Given the description of an element on the screen output the (x, y) to click on. 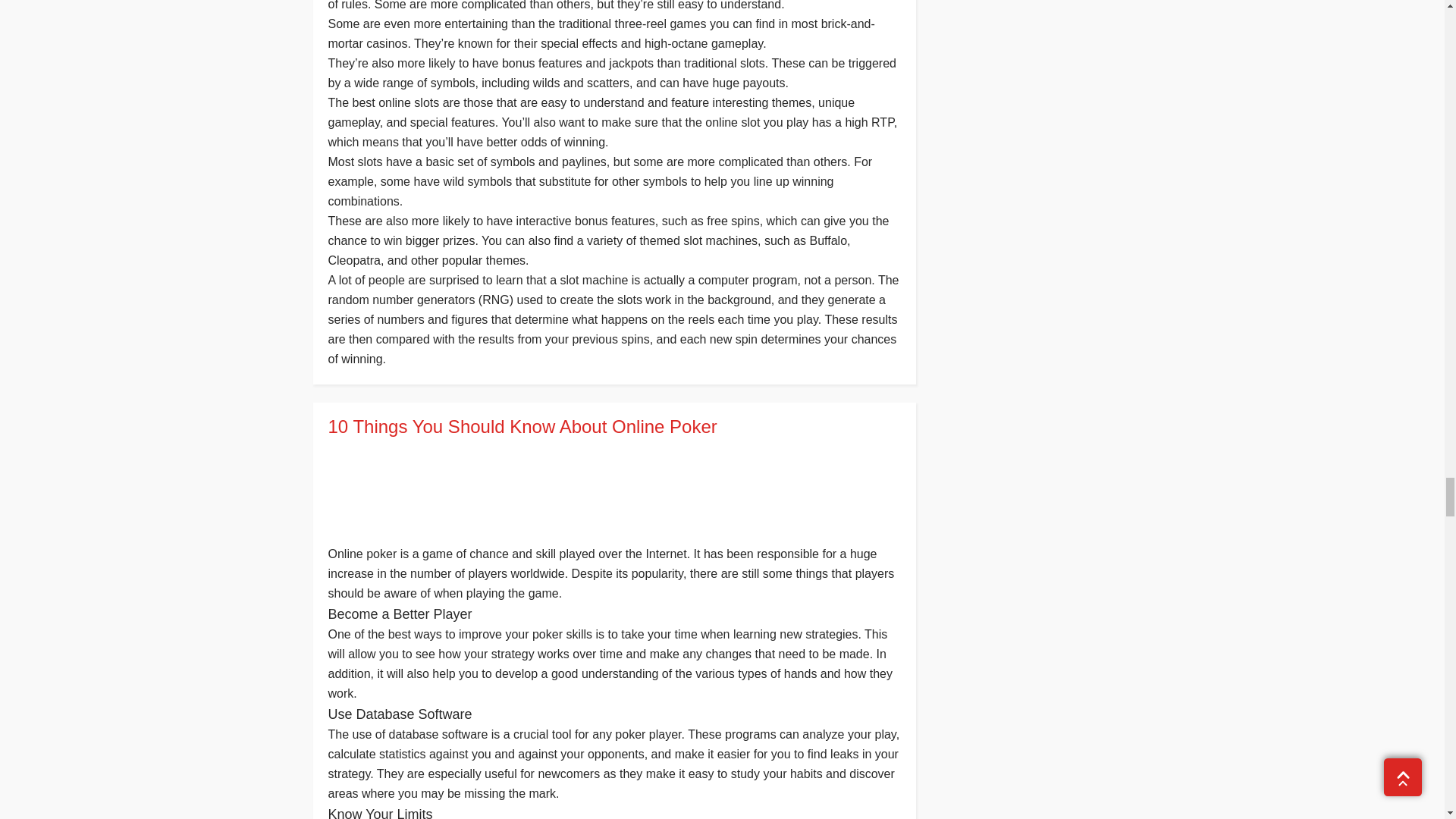
10 Things You Should Know About Online Poker (613, 426)
